Given the description of an element on the screen output the (x, y) to click on. 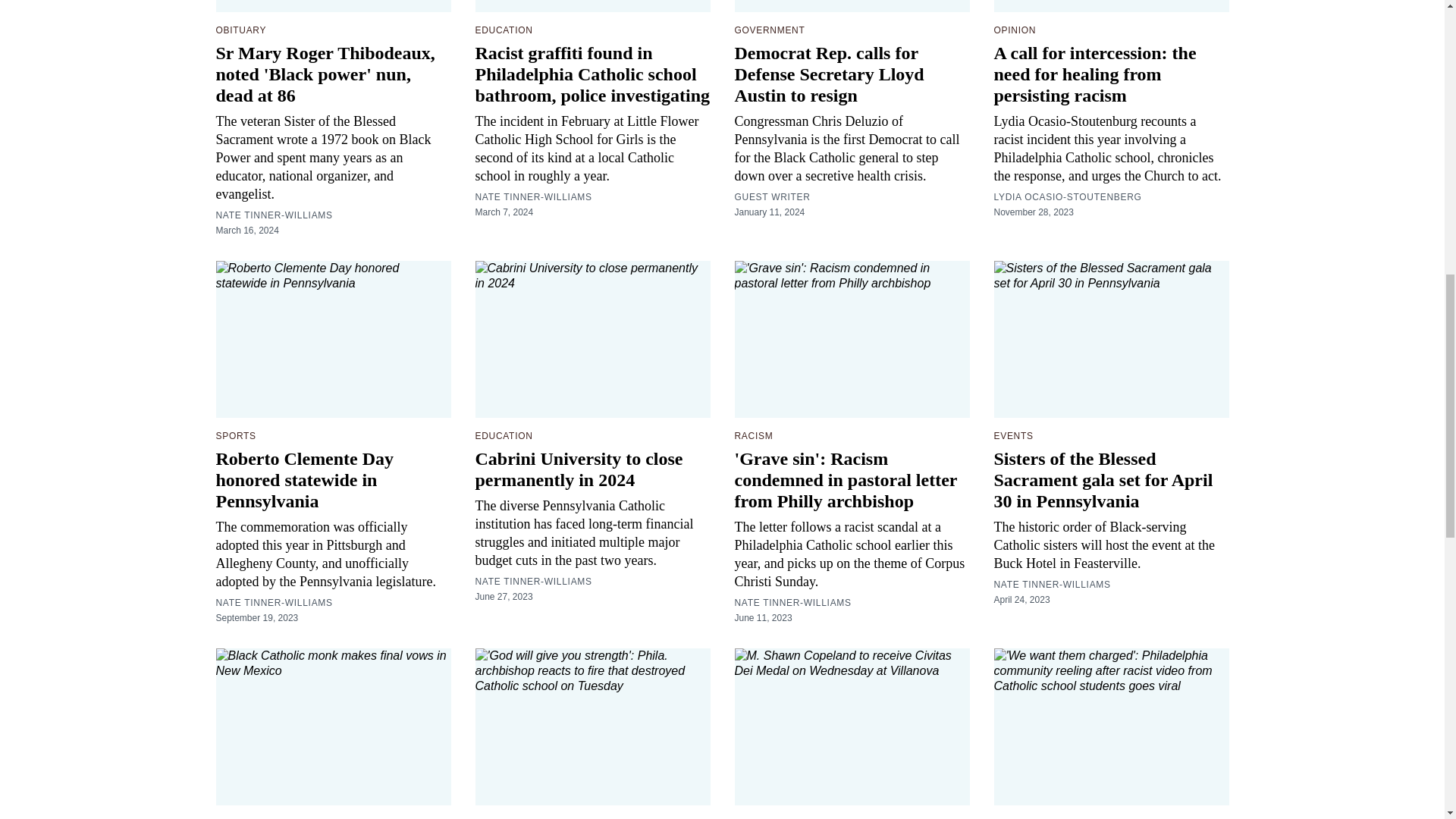
OBITUARY (240, 30)
EDUCATION (503, 30)
NATE TINNER-WILLIAMS (273, 215)
